Given the description of an element on the screen output the (x, y) to click on. 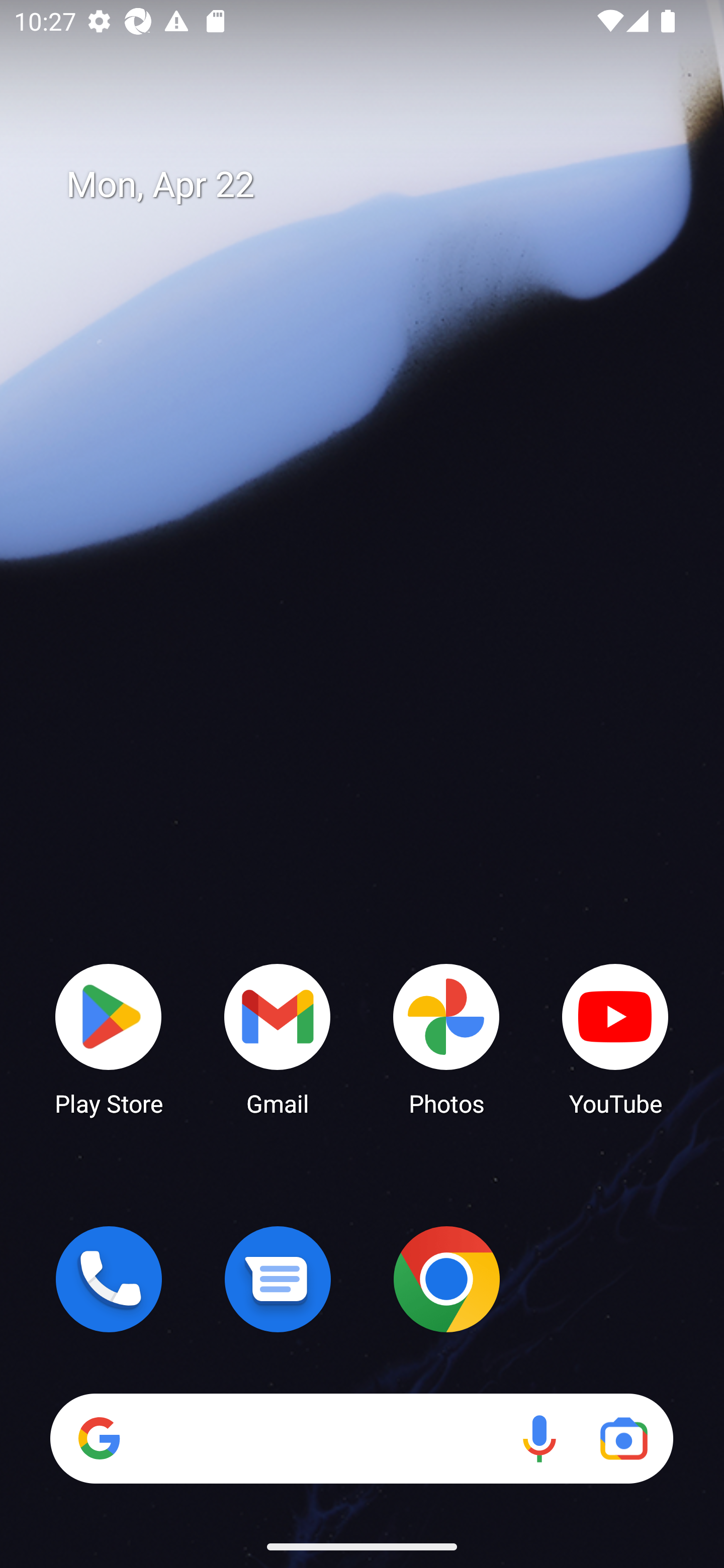
Mon, Apr 22 (375, 184)
Play Store (108, 1038)
Gmail (277, 1038)
Photos (445, 1038)
YouTube (615, 1038)
Phone (108, 1279)
Messages (277, 1279)
Chrome (446, 1279)
Search Voice search Google Lens (361, 1438)
Voice search (539, 1438)
Google Lens (623, 1438)
